Given the description of an element on the screen output the (x, y) to click on. 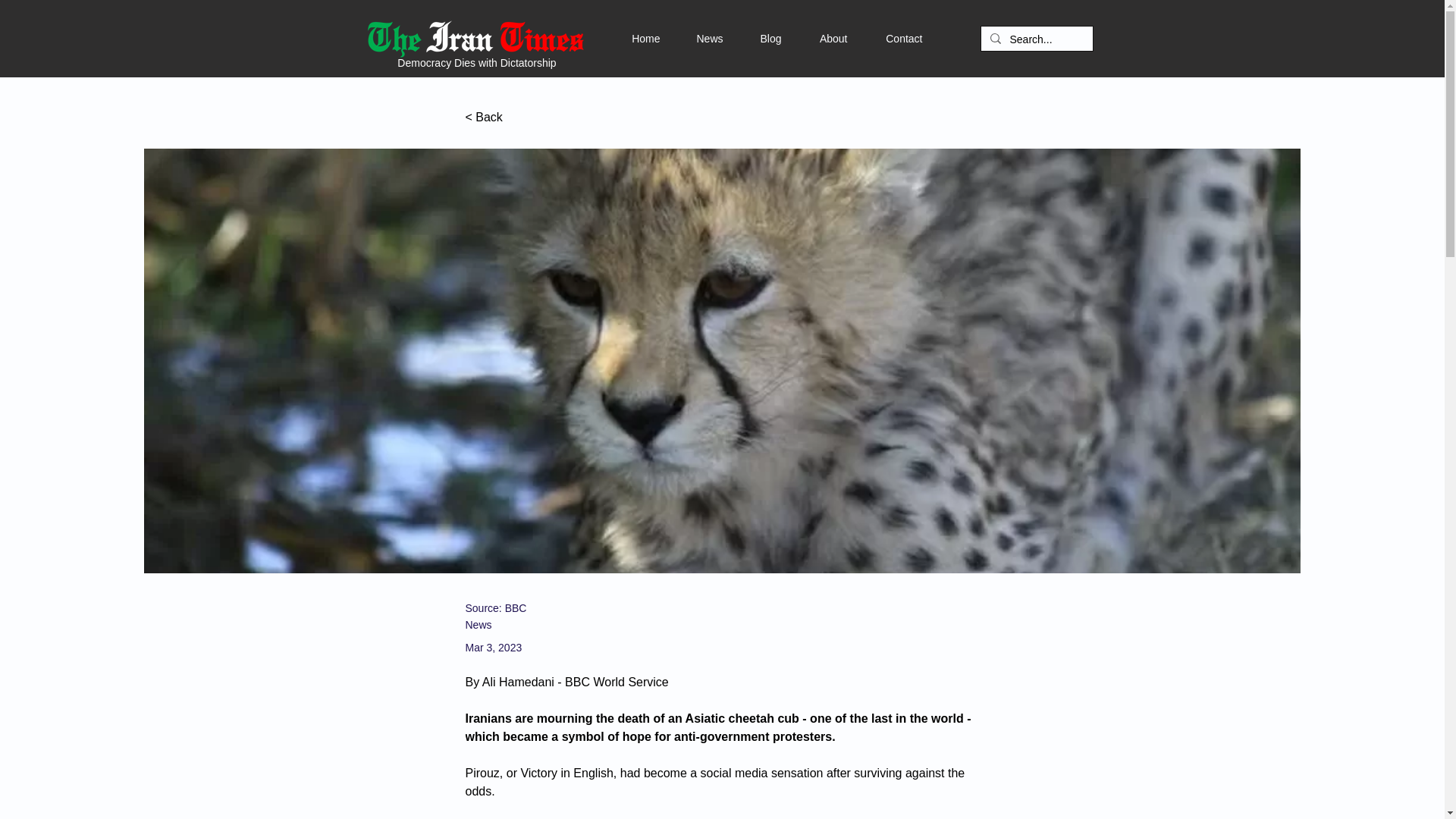
Home (628, 38)
News (690, 38)
About (813, 38)
Contact (885, 38)
Blog (752, 38)
